Given the description of an element on the screen output the (x, y) to click on. 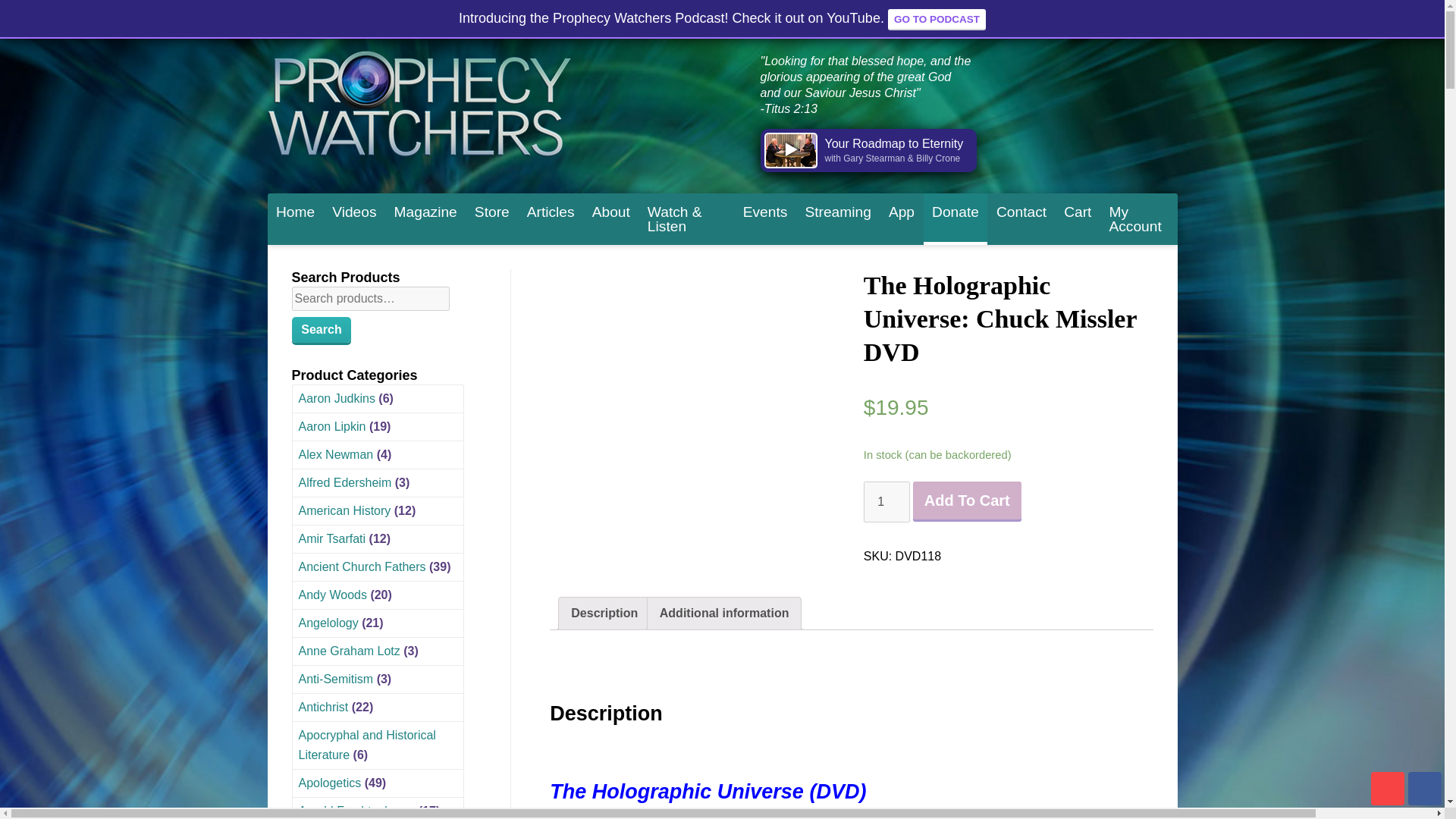
Home (294, 211)
About (611, 211)
Upcoming Events (764, 211)
1 (886, 501)
Magazine (425, 211)
Watch and Listen (686, 218)
Qty (886, 501)
Videos (354, 211)
Store (491, 211)
Streaming Video (837, 211)
